Given the description of an element on the screen output the (x, y) to click on. 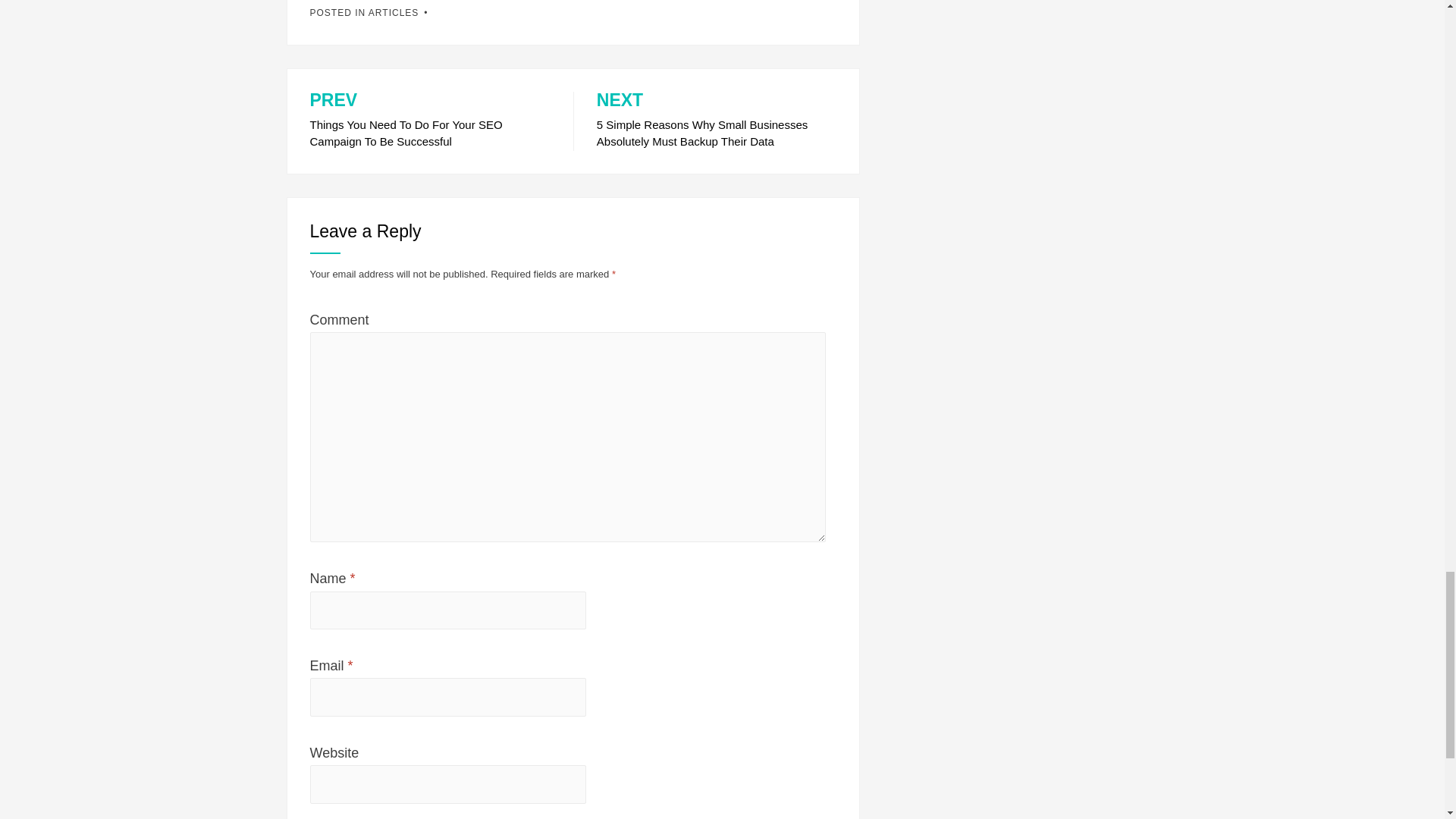
ARTICLES (393, 12)
